Given the description of an element on the screen output the (x, y) to click on. 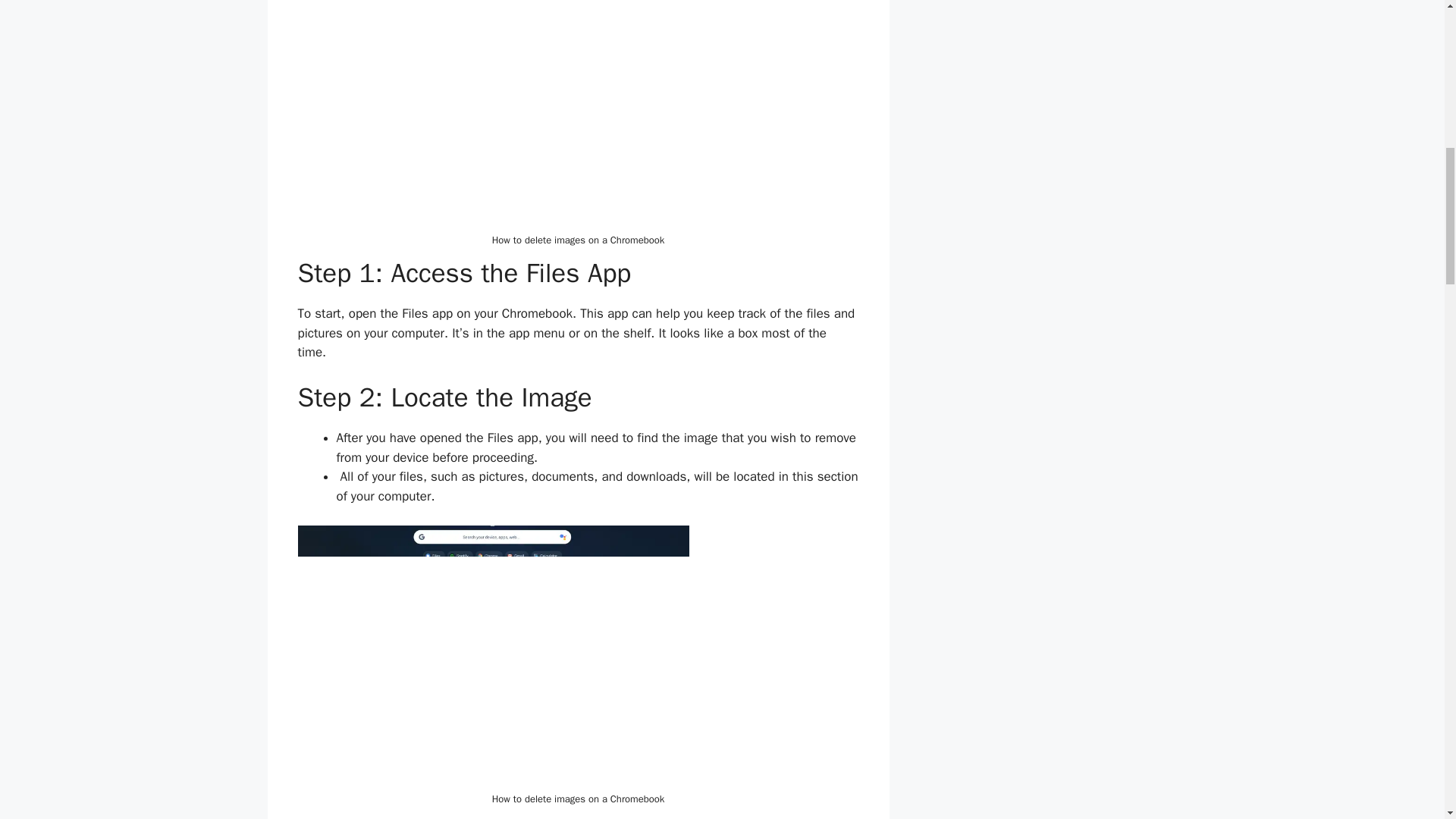
Scroll back to top (1406, 720)
